Given the description of an element on the screen output the (x, y) to click on. 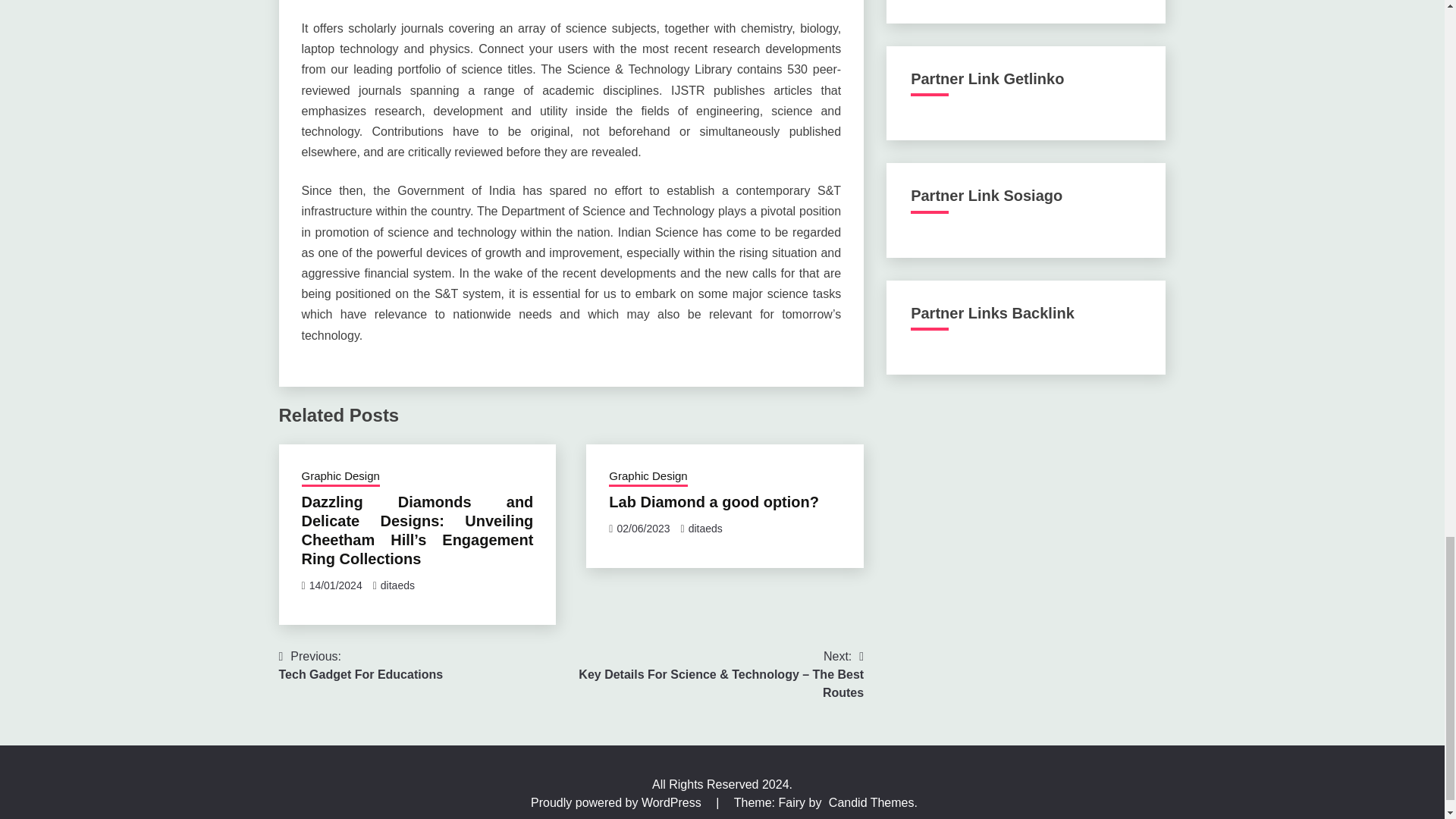
Graphic Design (340, 477)
ditaeds (705, 528)
Graphic Design (647, 477)
Lab Diamond a good option? (361, 665)
ditaeds (713, 501)
